Given the description of an element on the screen output the (x, y) to click on. 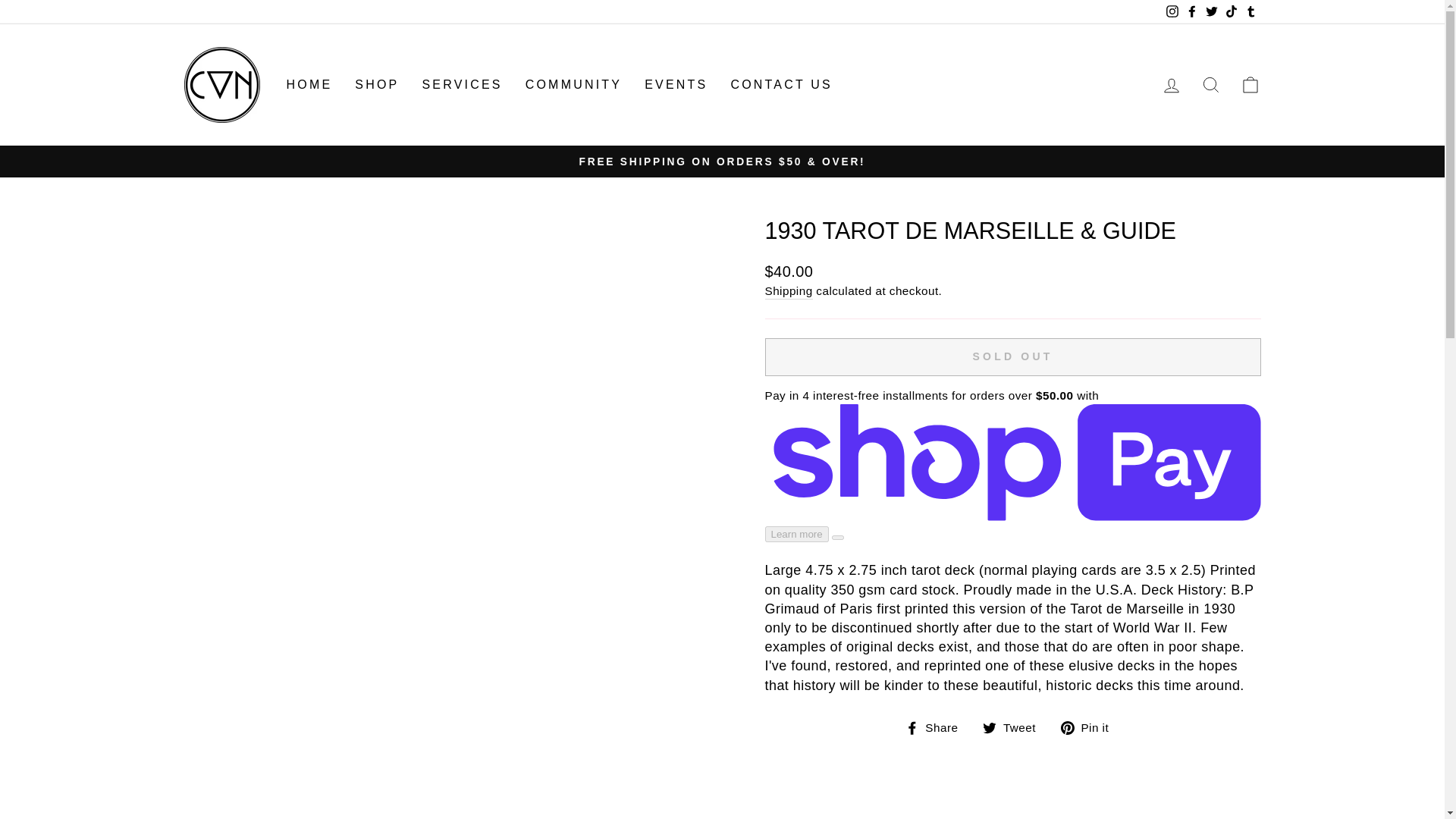
Share on Facebook (937, 727)
Pin on Pinterest (1090, 727)
SHOP (376, 85)
Tweet on Twitter (1014, 727)
HOME (309, 85)
